Given the description of an element on the screen output the (x, y) to click on. 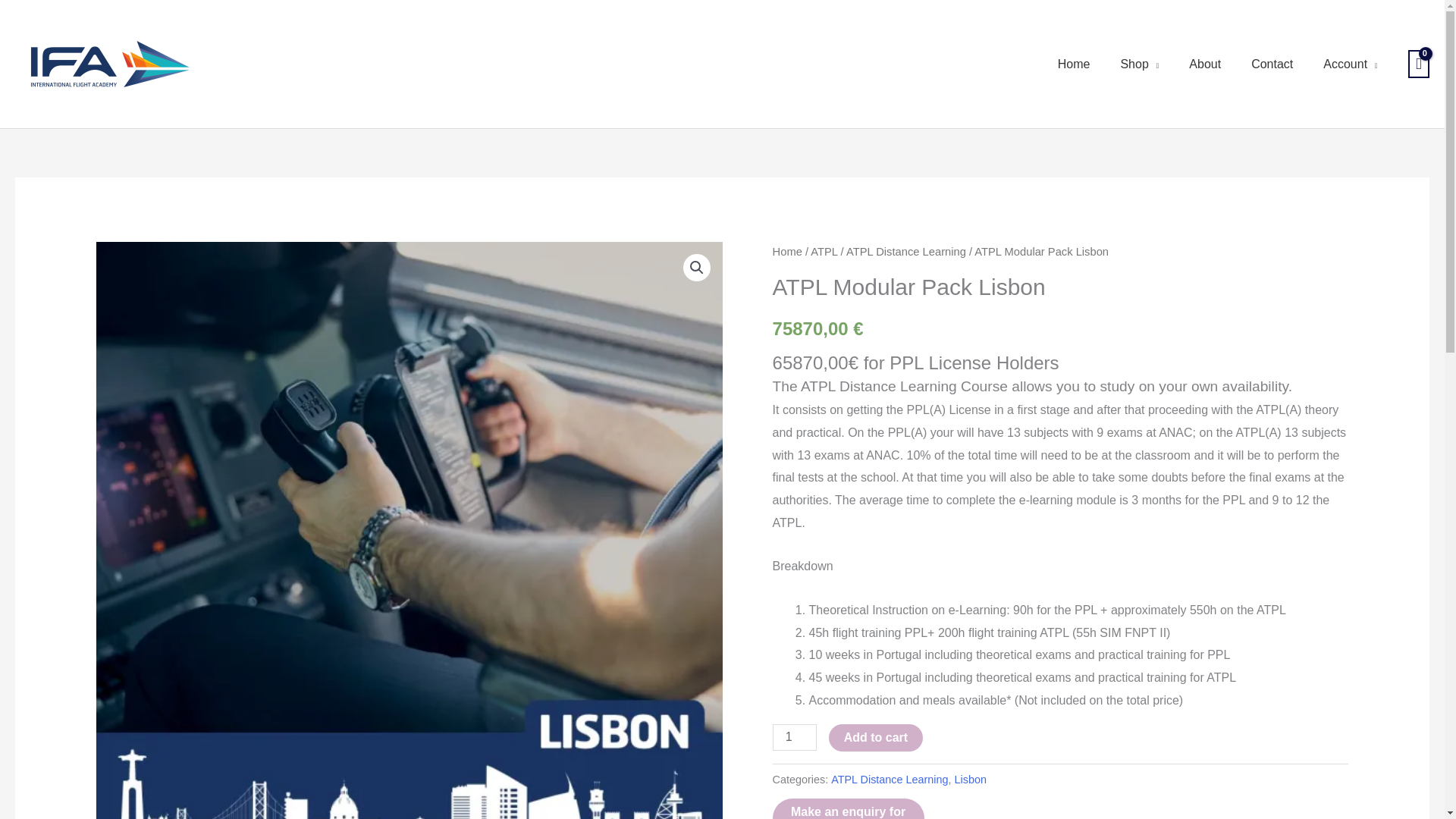
Shop (1139, 63)
1 (794, 737)
Home (1073, 63)
Make an enquiry for this product (848, 808)
